Given the description of an element on the screen output the (x, y) to click on. 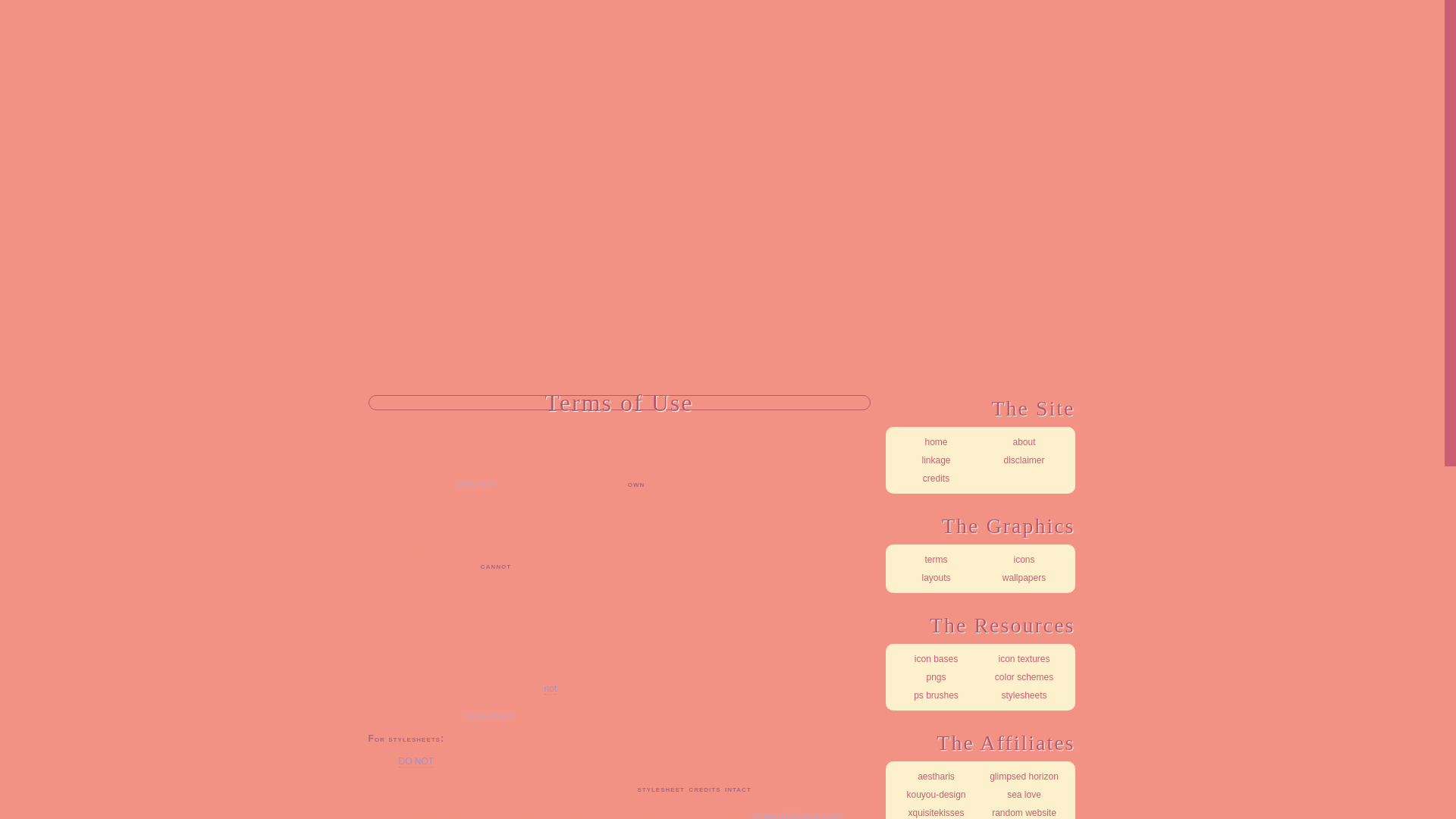
random website (1023, 811)
xquisitekisses (935, 811)
wallpapers (1023, 577)
home (935, 442)
terms (935, 559)
linkage (935, 460)
pngs (935, 677)
about (1023, 442)
disclaimer (1023, 460)
glimpsed horizon (1023, 776)
